Given the description of an element on the screen output the (x, y) to click on. 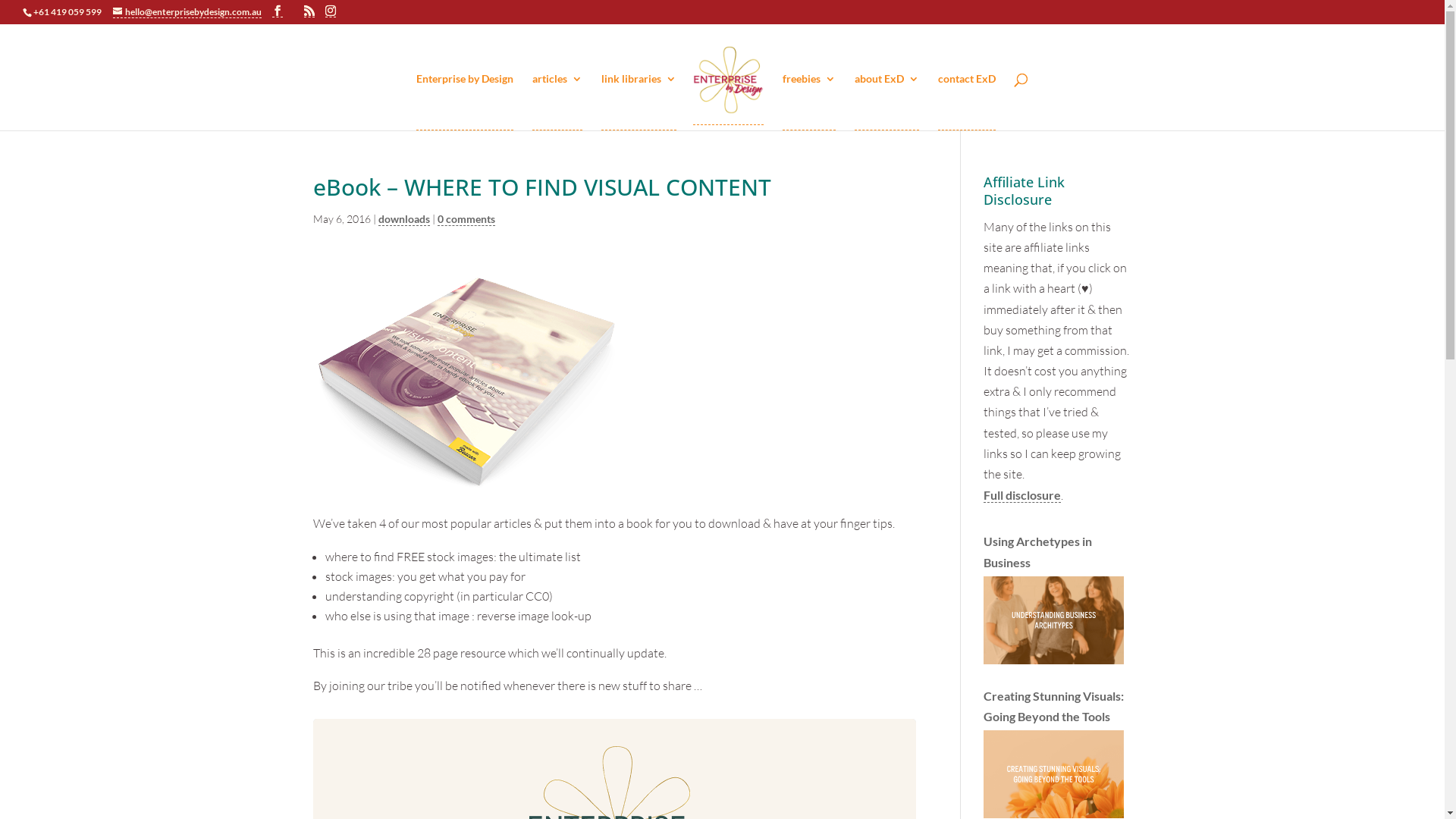
about ExD Element type: text (886, 101)
link libraries Element type: text (638, 101)
Enterprise by Design Element type: text (464, 101)
downloads Element type: text (403, 218)
contact ExD Element type: text (966, 101)
articles Element type: text (557, 101)
freebies Element type: text (808, 101)
Using Archetypes in Business Element type: text (1057, 601)
Full disclosure Element type: text (1021, 494)
0 comments Element type: text (465, 218)
hello@enterprisebydesign.com.au Element type: text (186, 12)
